Given the description of an element on the screen output the (x, y) to click on. 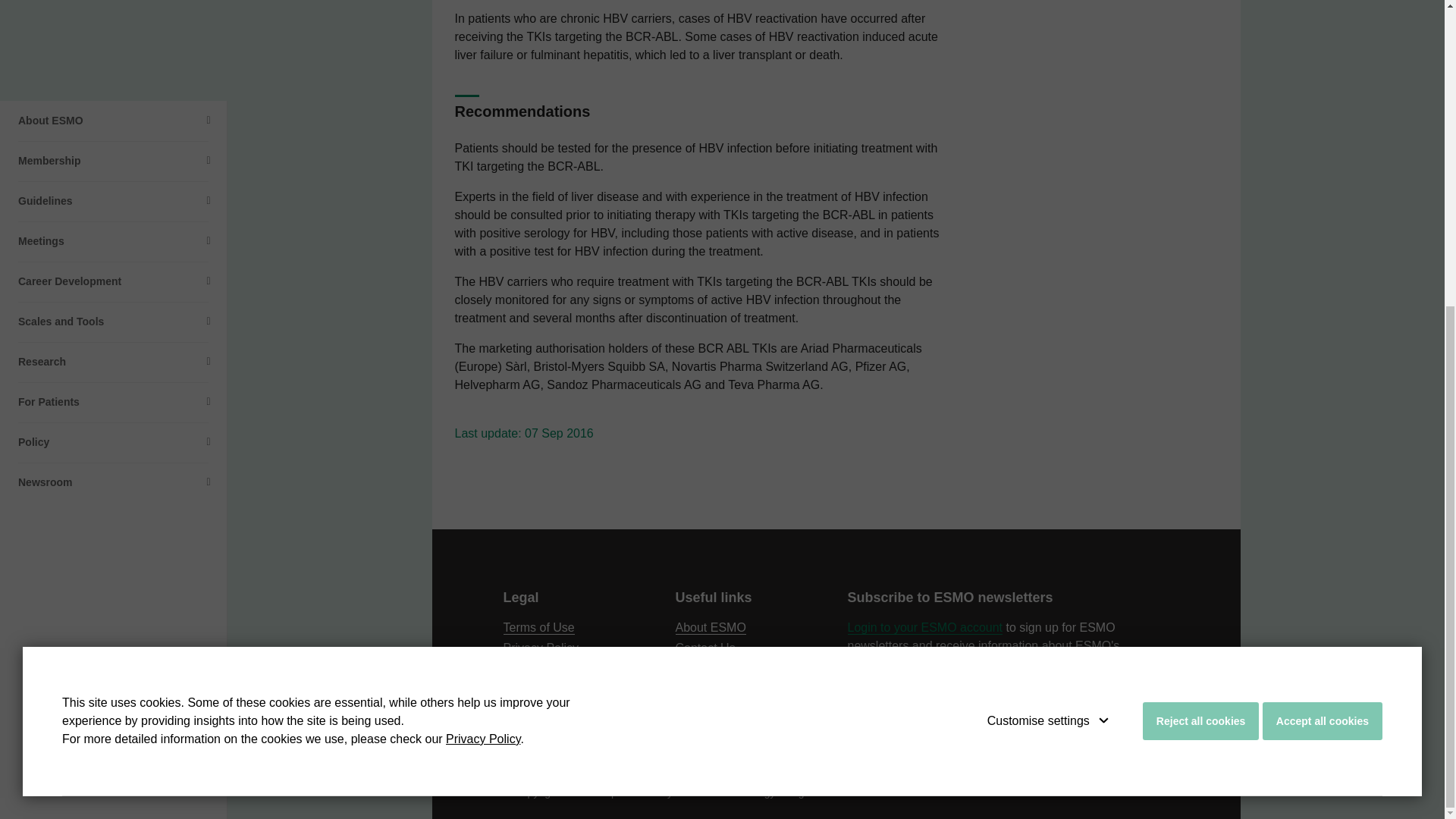
Newsroom (113, 10)
